Given the description of an element on the screen output the (x, y) to click on. 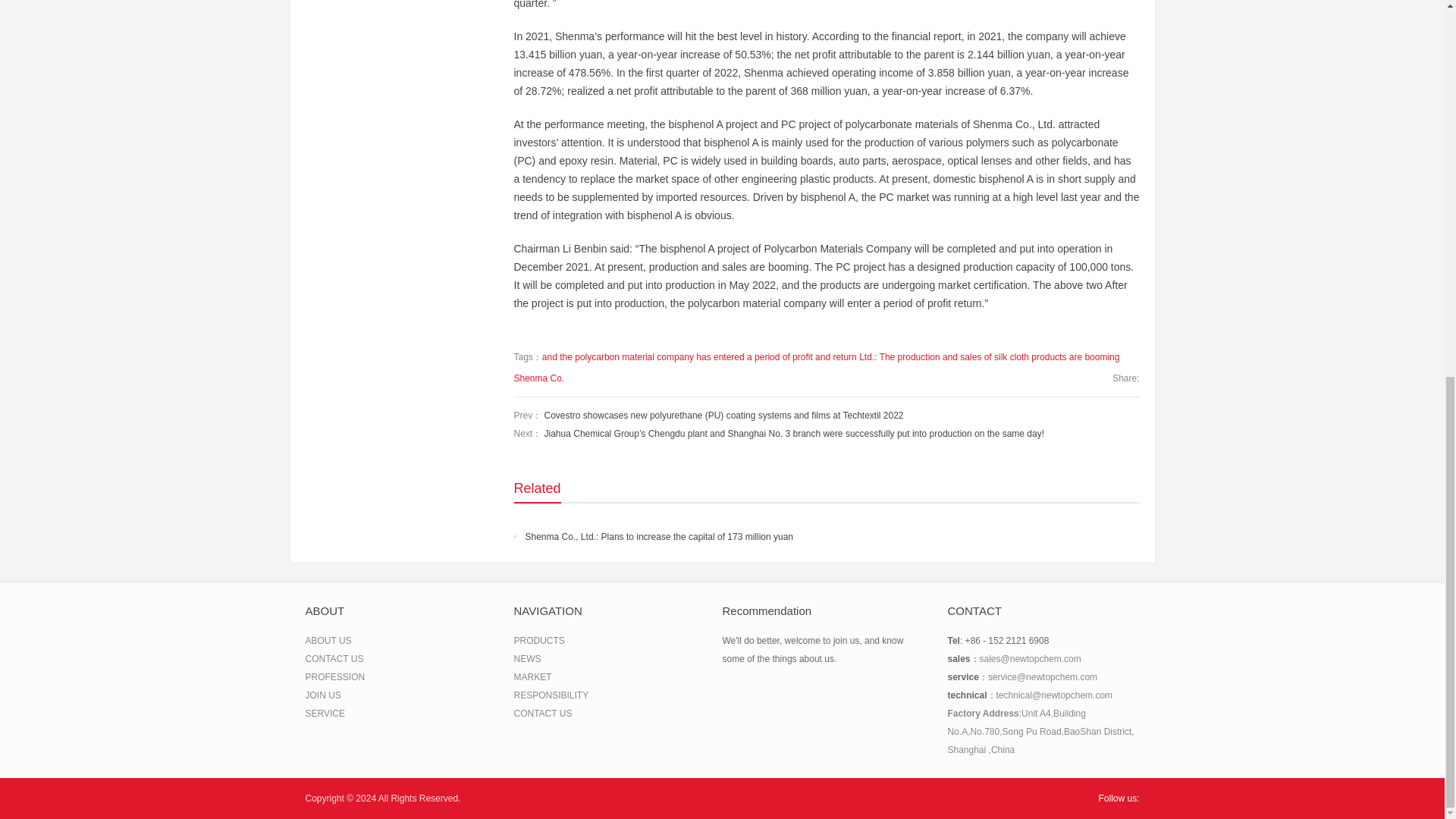
Shenma Co. (538, 378)
ABOUT US (327, 640)
JOIN US (322, 695)
SERVICE (323, 713)
PRODUCTS (538, 640)
NEWS (527, 658)
MARKET (532, 676)
PROFESSION (334, 676)
CONTACT US (333, 658)
